Given the description of an element on the screen output the (x, y) to click on. 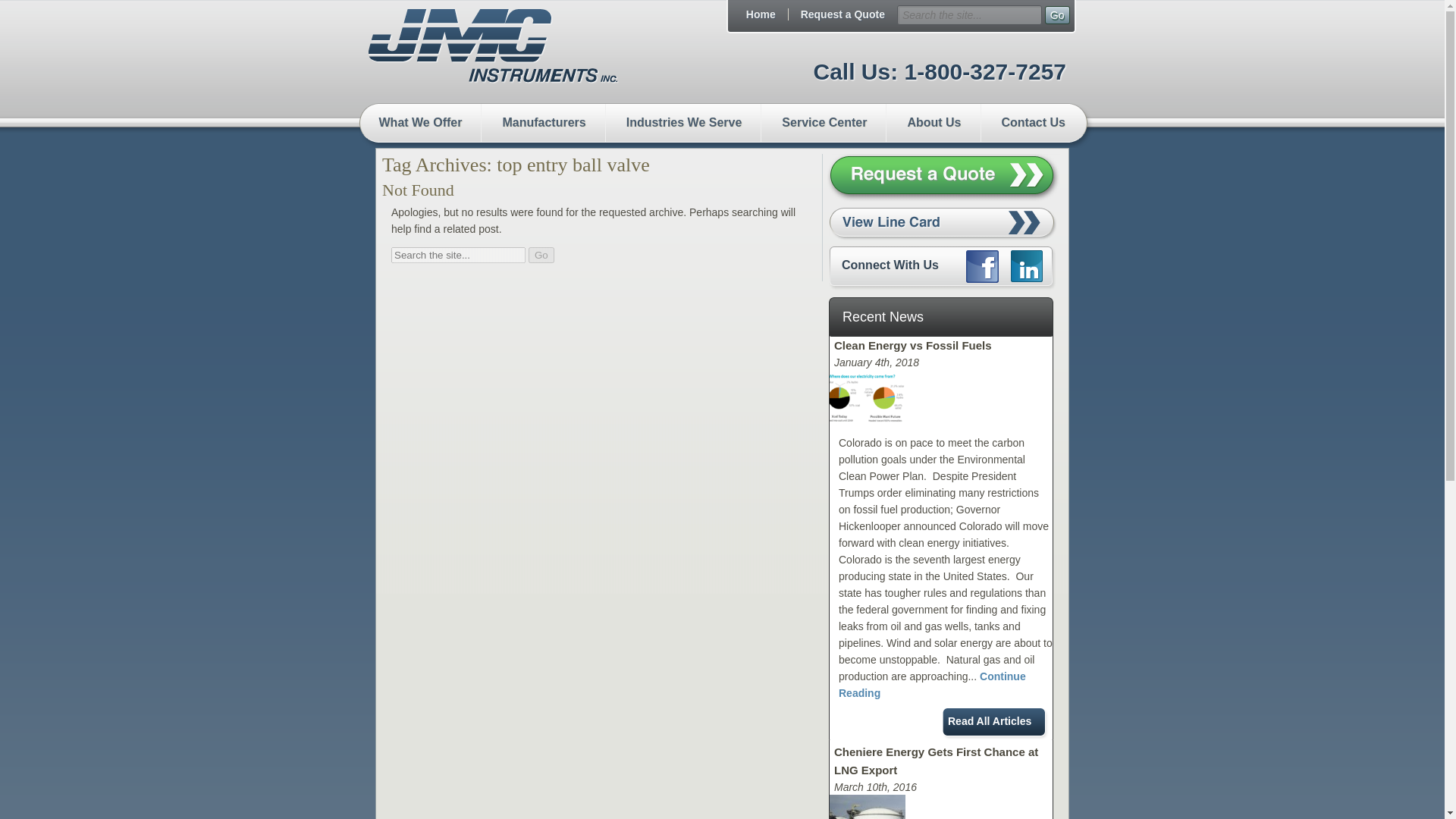
View Line Card (942, 224)
Go (541, 254)
Read All Articles (995, 723)
Go (1057, 14)
Connect With Us on Facebook (982, 266)
Follow Us on Twitter (1026, 265)
Cheniere Energy Gets First Chance at LNG Export (936, 760)
Manufacturers (543, 128)
Request a Quote (842, 14)
Go (541, 254)
Home (761, 14)
Industries We Serve (683, 128)
Service Center (823, 128)
Request a Quote (943, 177)
About Us (932, 128)
